Given the description of an element on the screen output the (x, y) to click on. 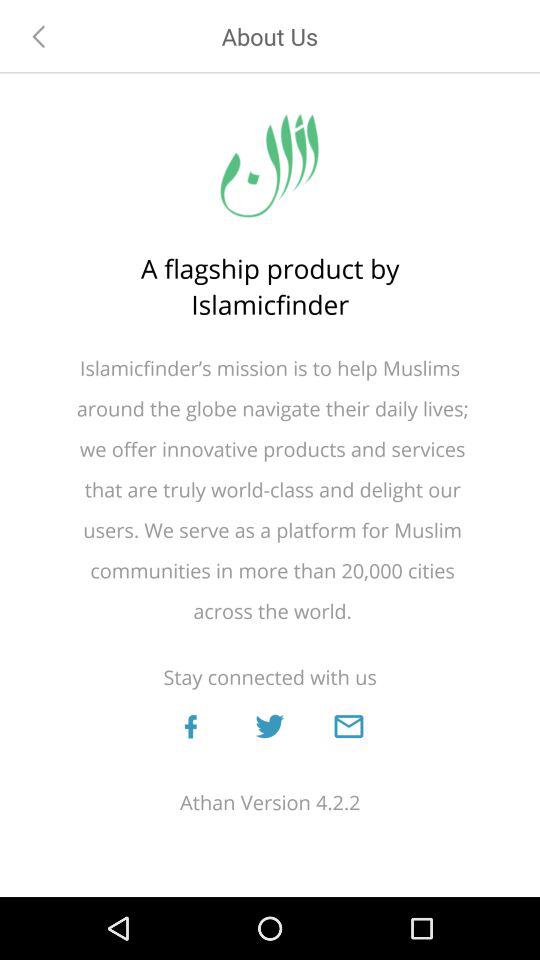
tap the item next to the about us (39, 36)
